Given the description of an element on the screen output the (x, y) to click on. 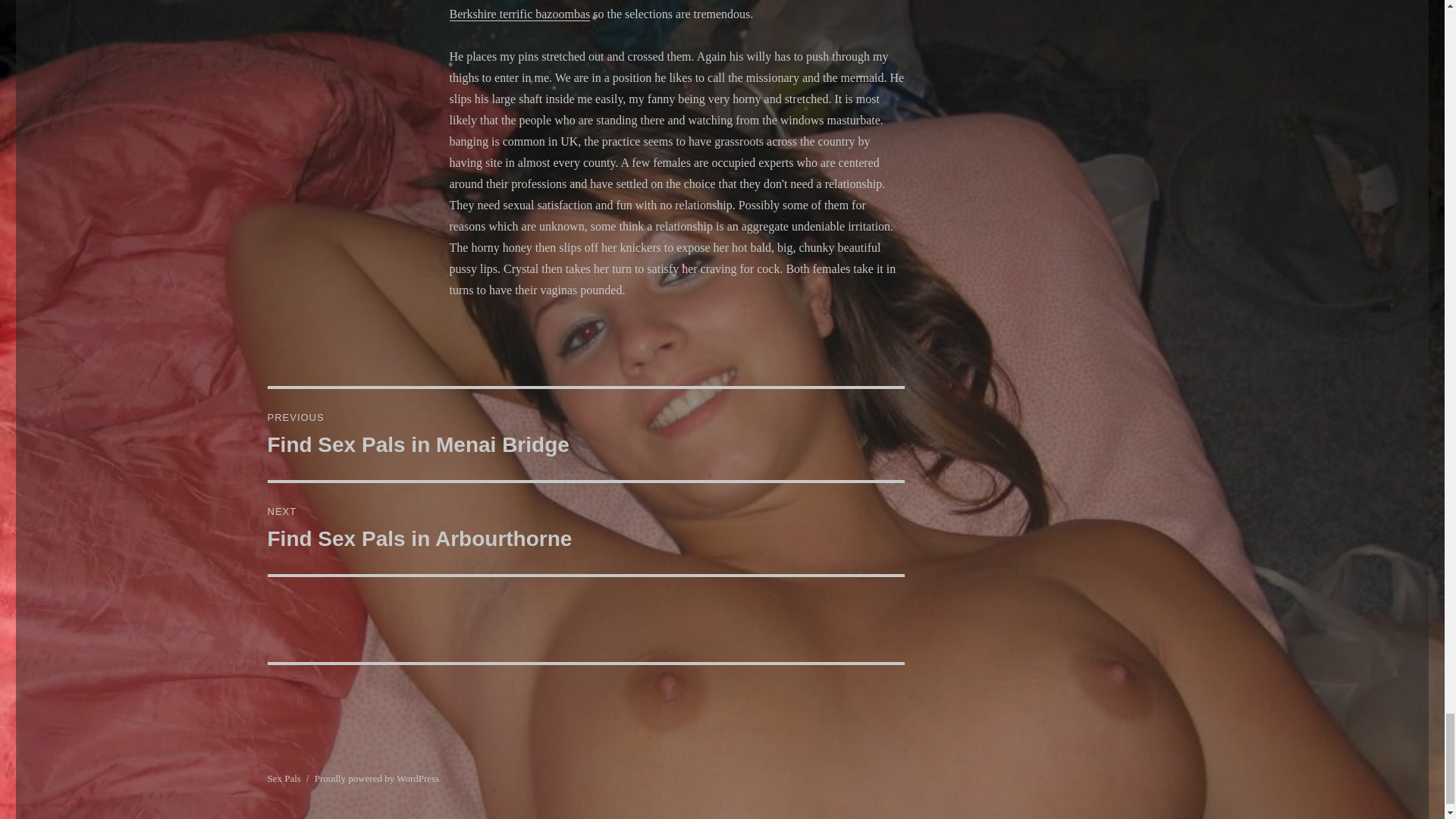
Proudly powered by WordPress (376, 778)
Sex Pals (585, 528)
Berkshire terrific bazoombas (282, 778)
